Given the description of an element on the screen output the (x, y) to click on. 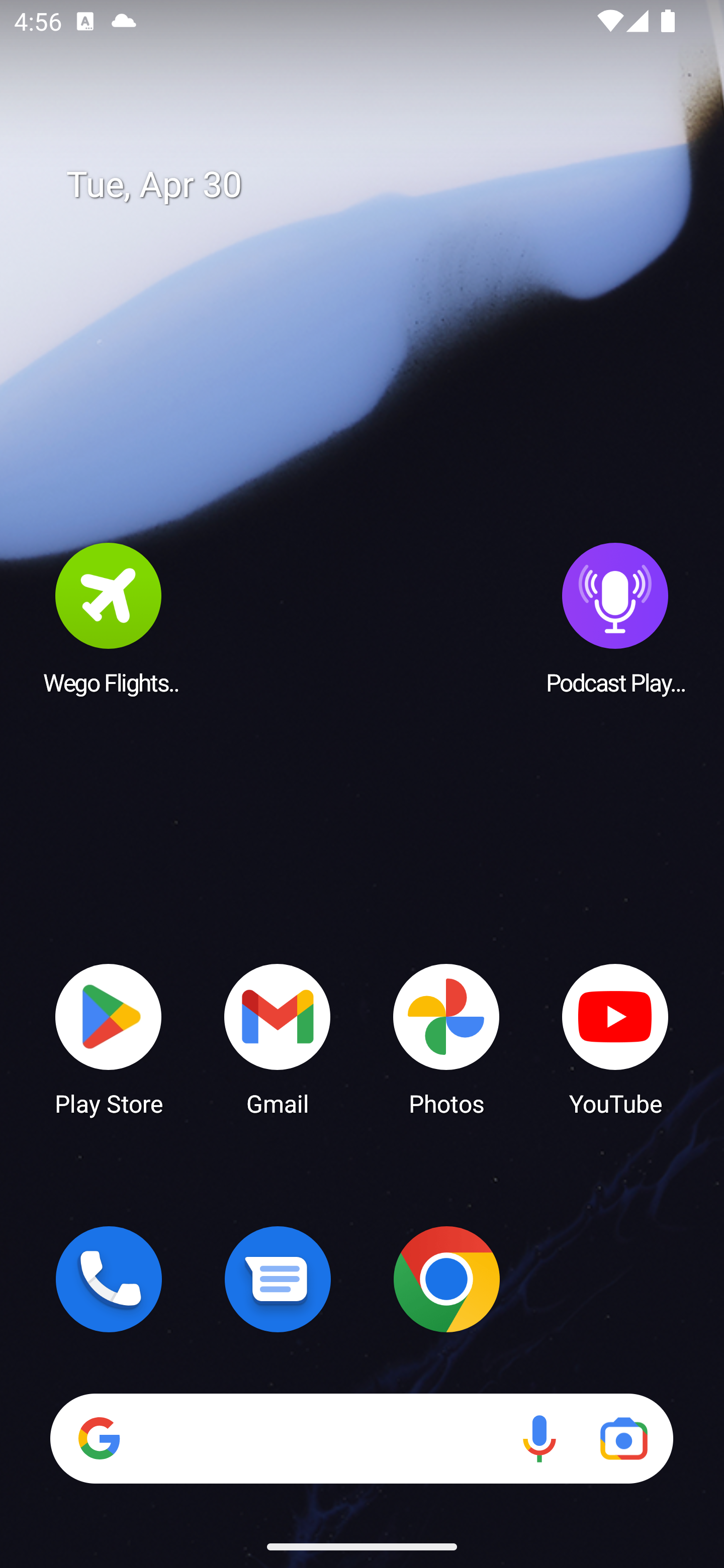
Tue, Apr 30 (375, 184)
Wego Flights & Hotels (108, 617)
Podcast Player (615, 617)
Play Store (108, 1038)
Gmail (277, 1038)
Photos (445, 1038)
YouTube (615, 1038)
Phone (108, 1279)
Messages (277, 1279)
Chrome (446, 1279)
Voice search (539, 1438)
Google Lens (623, 1438)
